Given the description of an element on the screen output the (x, y) to click on. 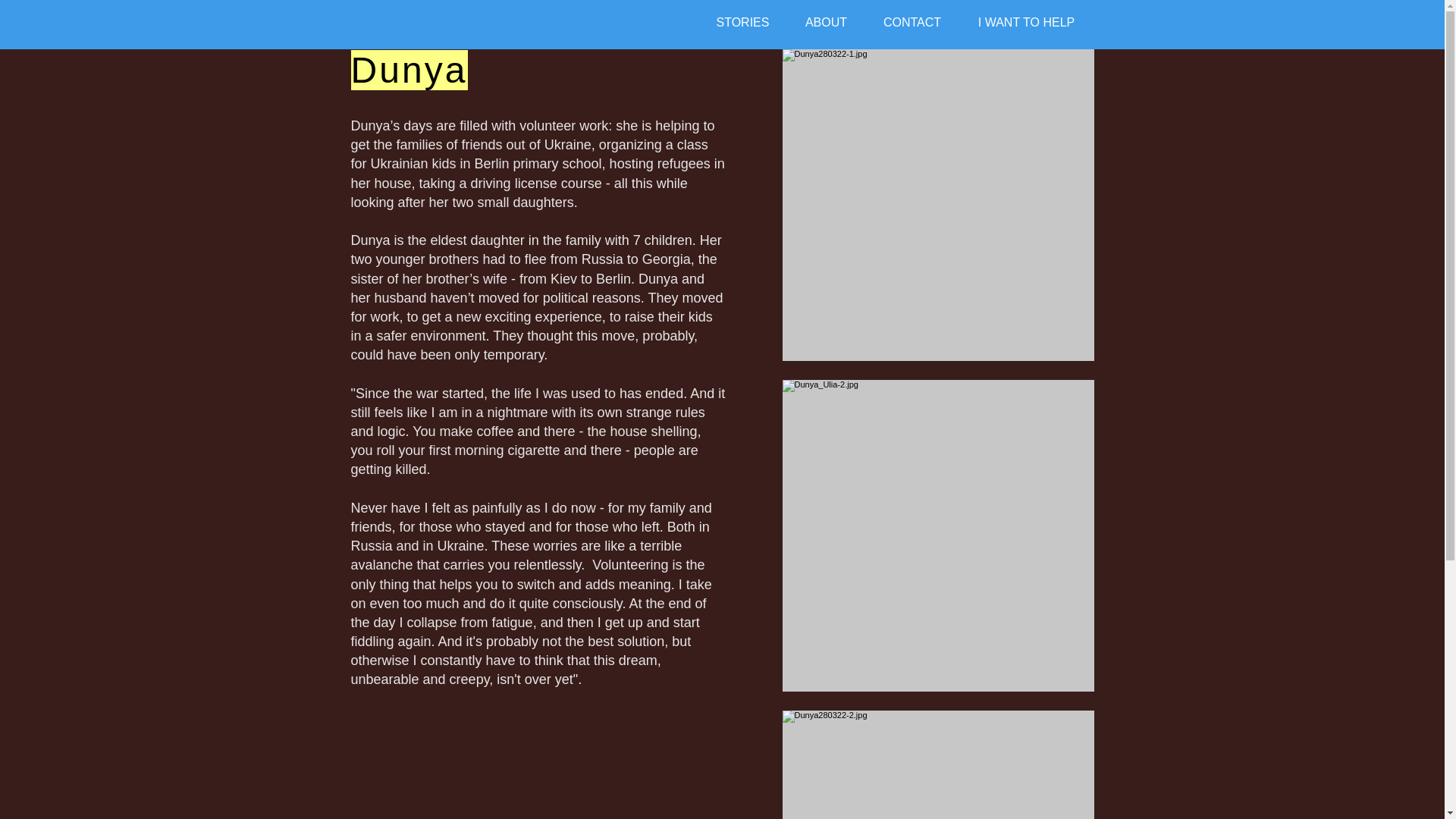
ABOUT (826, 22)
I WANT TO HELP (1025, 22)
CONTACT (912, 22)
STORIES (742, 22)
